Given the description of an element on the screen output the (x, y) to click on. 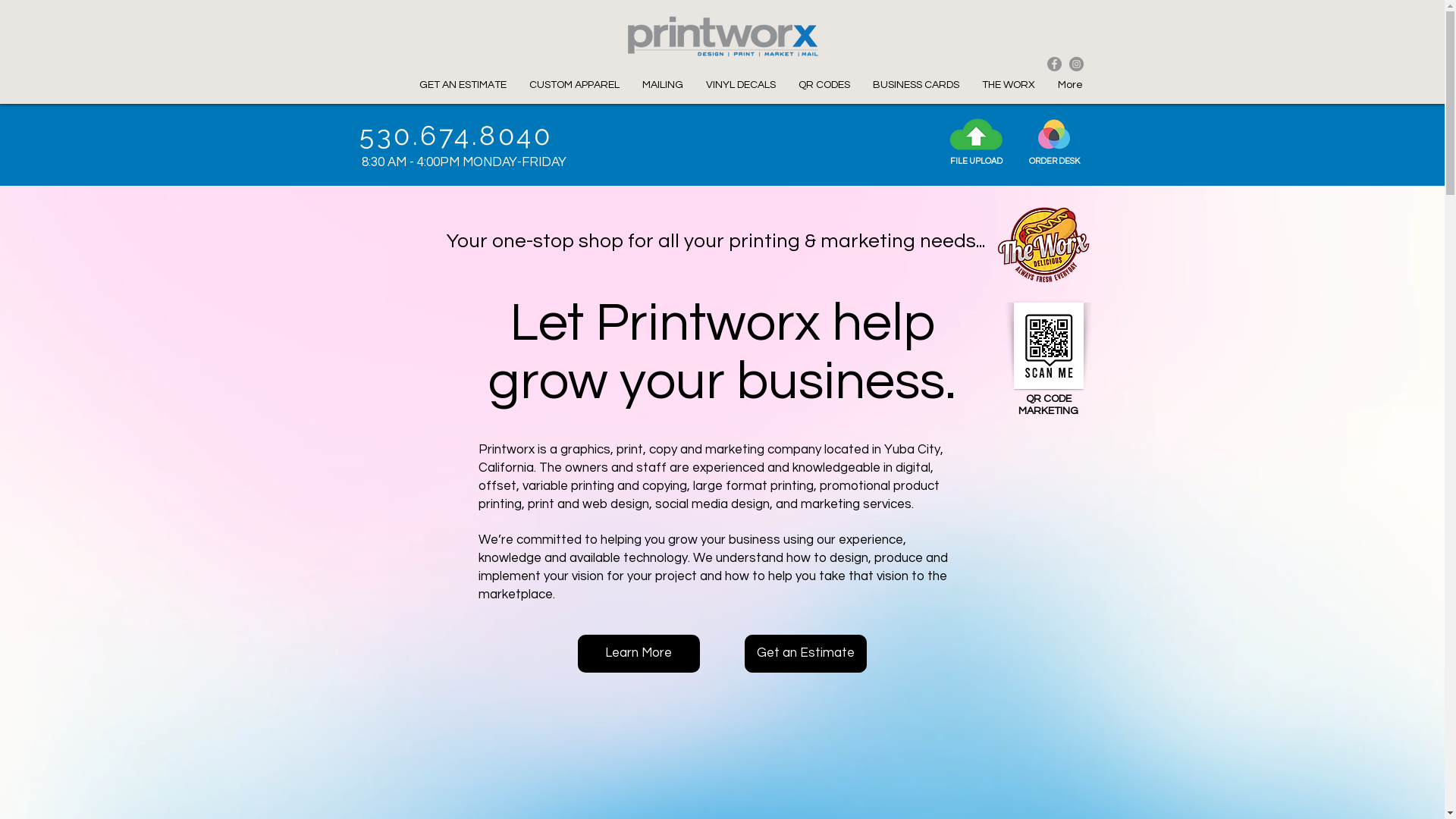
CUSTOM APPAREL Element type: text (573, 84)
Get an Estimate Element type: text (805, 653)
530.674.8040 Element type: text (456, 134)
QR CODES Element type: text (824, 84)
VINYL DECALS Element type: text (740, 84)
BUSINESS CARDS Element type: text (915, 84)
Visit The Worx Page Element type: hover (1044, 244)
GET AN ESTIMATE Element type: text (462, 84)
Learn More Element type: text (638, 653)
MAILING Element type: text (662, 84)
THE WORX Element type: text (1008, 84)
Visit Printworx QR Code Page Element type: hover (1047, 345)
For Printworx Online Ordering Customers Element type: hover (1053, 134)
Upload yor files Element type: hover (975, 133)
